Given the description of an element on the screen output the (x, y) to click on. 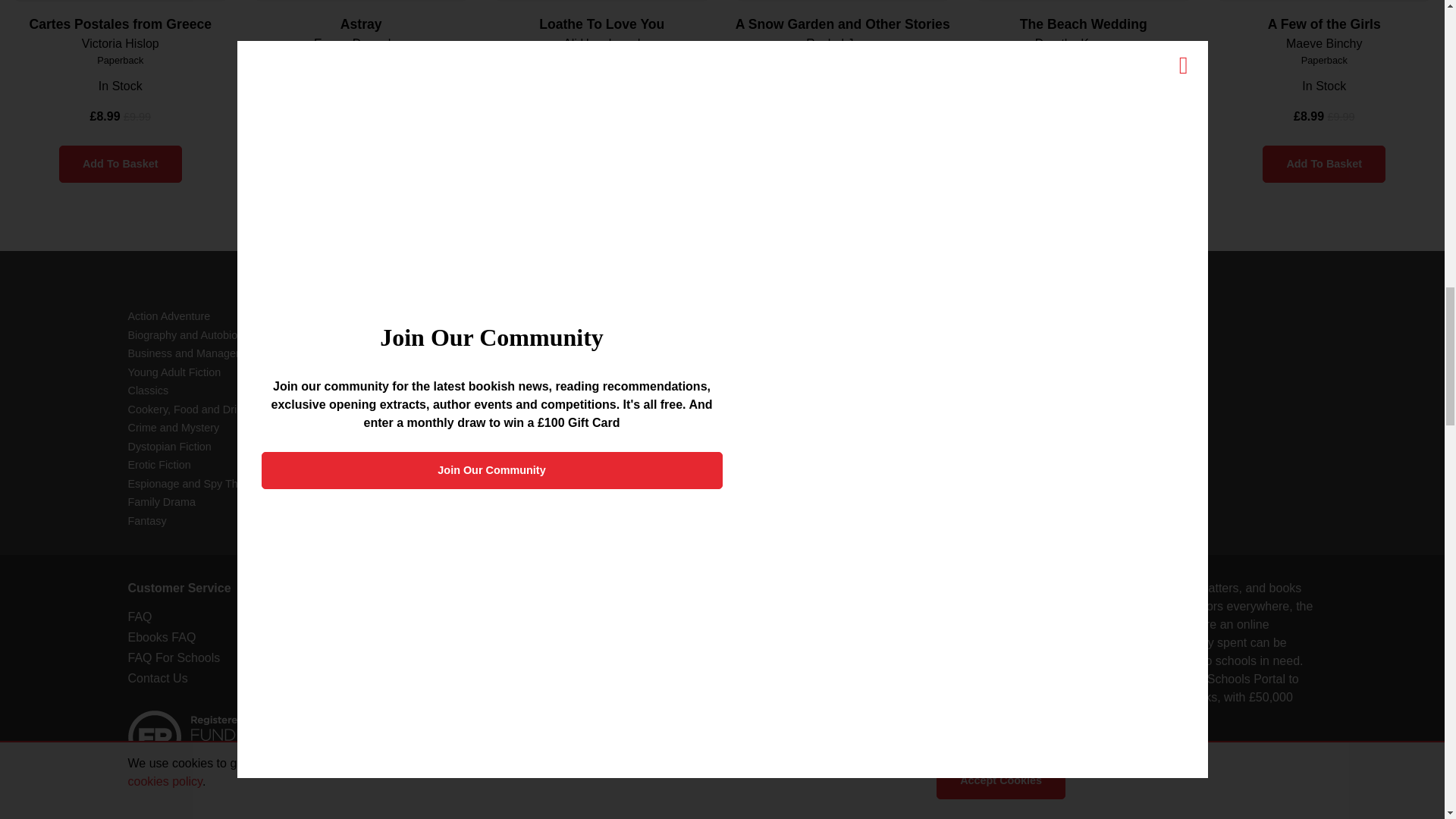
Add To Basket (1324, 163)
Add To Basket (360, 163)
Add To Basket (601, 163)
Add To Basket (842, 163)
Add To Basket (1083, 163)
Add To Basket (120, 163)
